Given the description of an element on the screen output the (x, y) to click on. 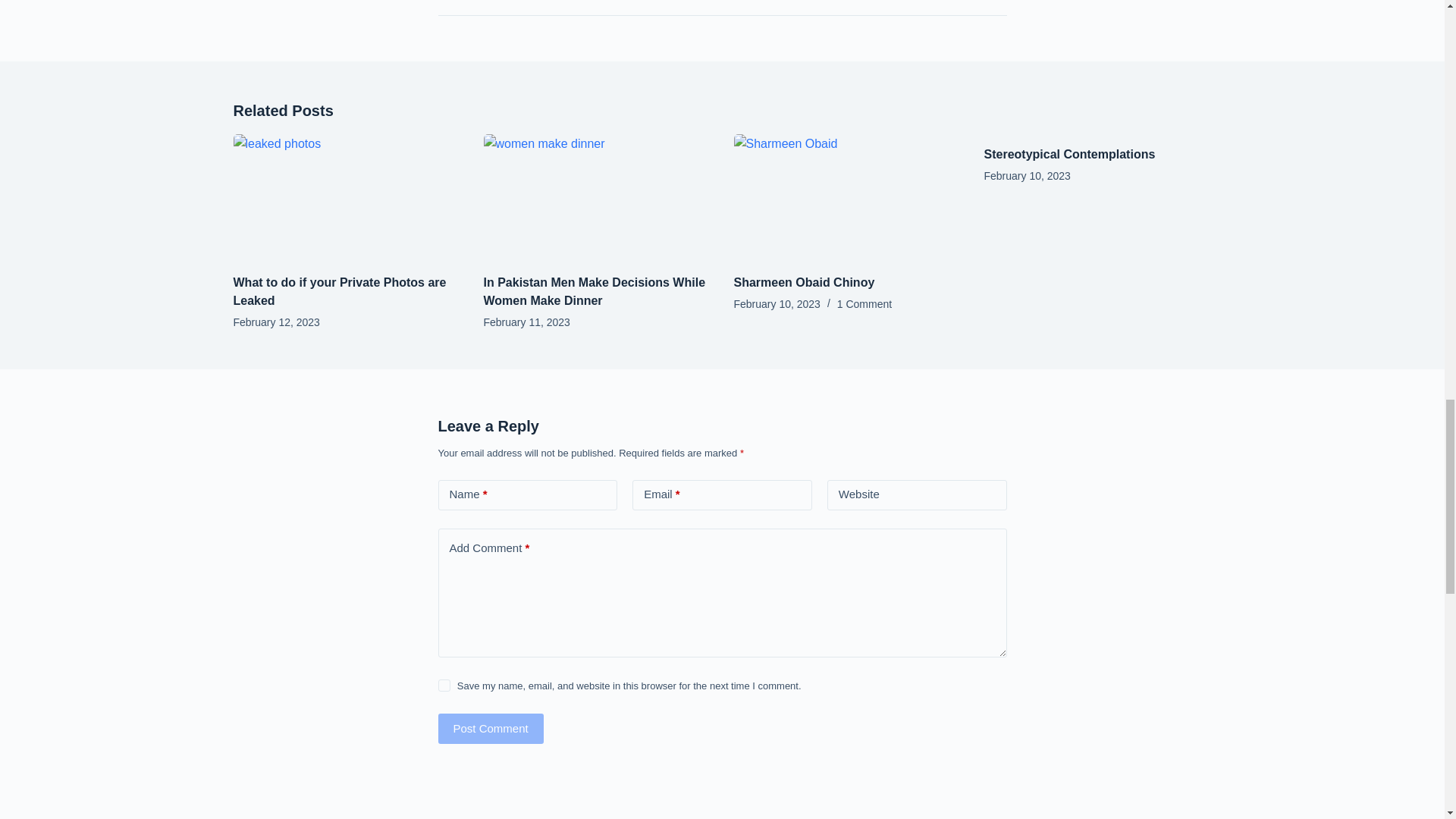
yes (443, 685)
In Pakistan Men Make Decisions While Women Make Dinner (594, 291)
What to do if your Private Photos are Leaked (339, 291)
